Given the description of an element on the screen output the (x, y) to click on. 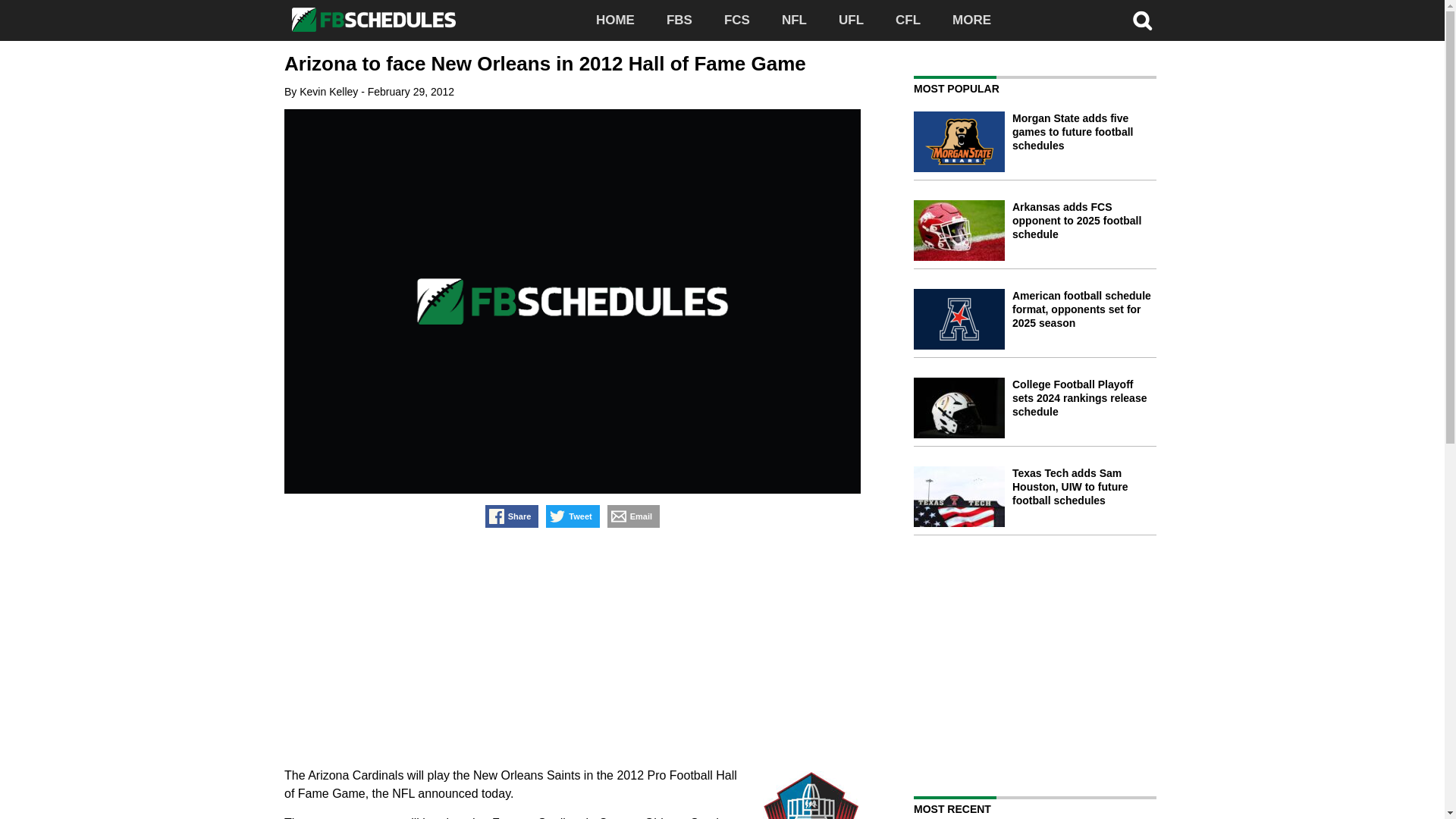
FBS (678, 20)
Pro Football Hall of Fame (810, 794)
Advertisement (1041, 663)
HOME (614, 20)
Advertisement (571, 648)
